Given the description of an element on the screen output the (x, y) to click on. 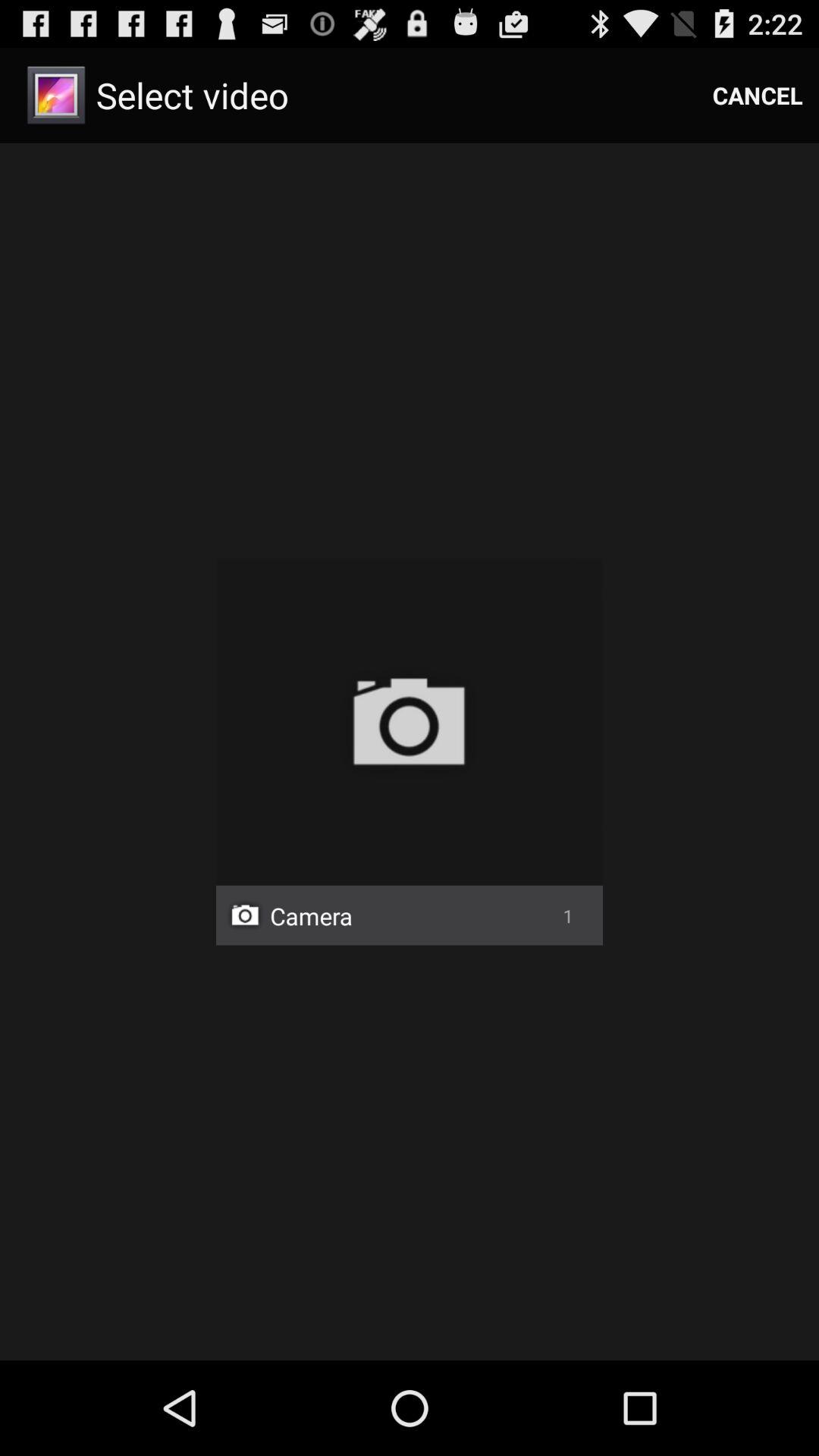
jump to cancel icon (757, 95)
